Given the description of an element on the screen output the (x, y) to click on. 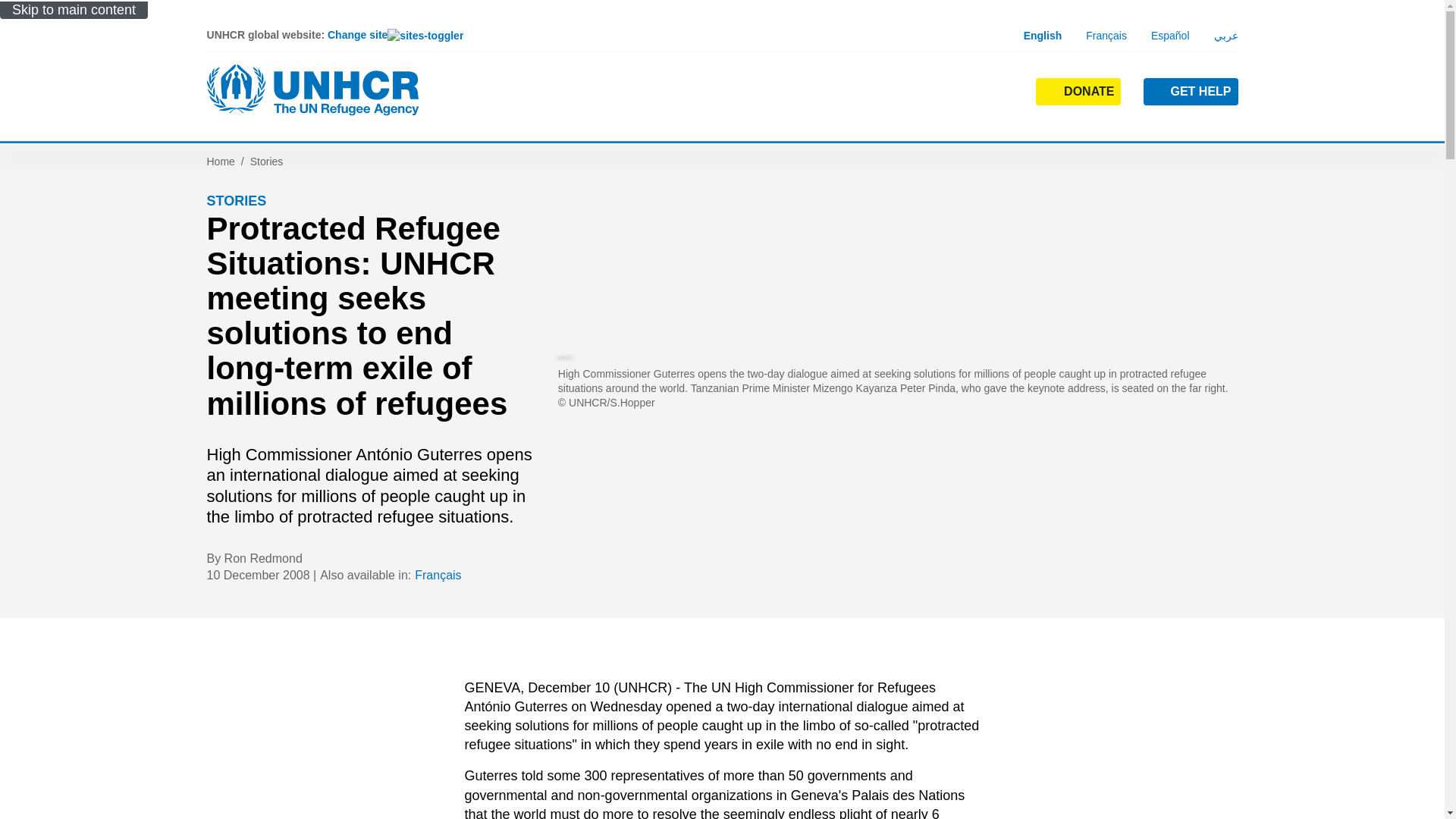
DONATE (1078, 91)
Search (954, 120)
English (1042, 35)
Home (312, 90)
Sites (1000, 90)
GET HELP (1189, 91)
Skip to main content (74, 9)
Search (952, 90)
Change site (395, 34)
